Given the description of an element on the screen output the (x, y) to click on. 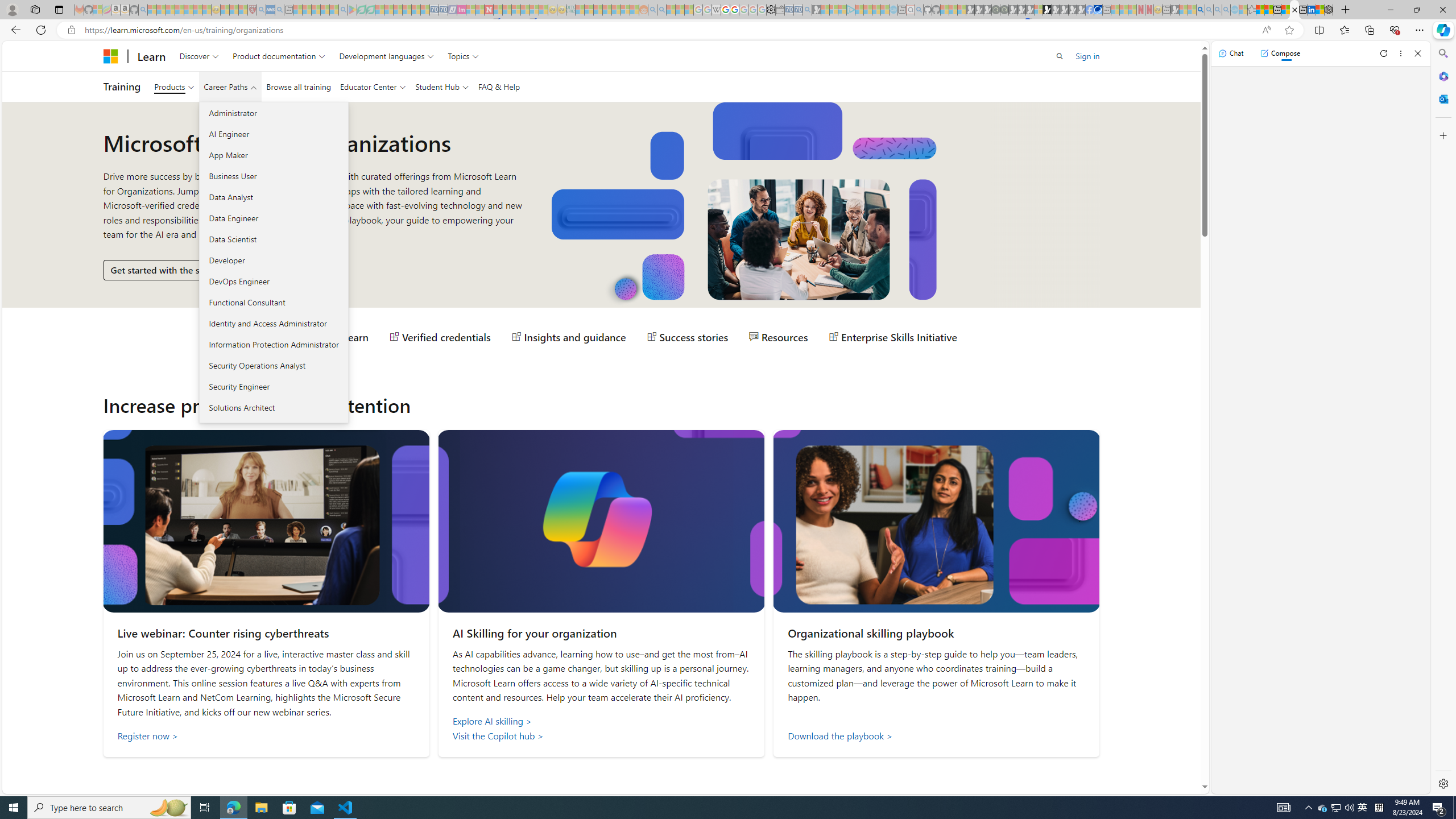
Insights and guidance (568, 336)
Pets - MSN - Sleeping (324, 9)
Administrator (273, 112)
Functional Consultant (273, 301)
AQI & Health | AirNow.gov (1098, 9)
Products (174, 86)
